Given the description of an element on the screen output the (x, y) to click on. 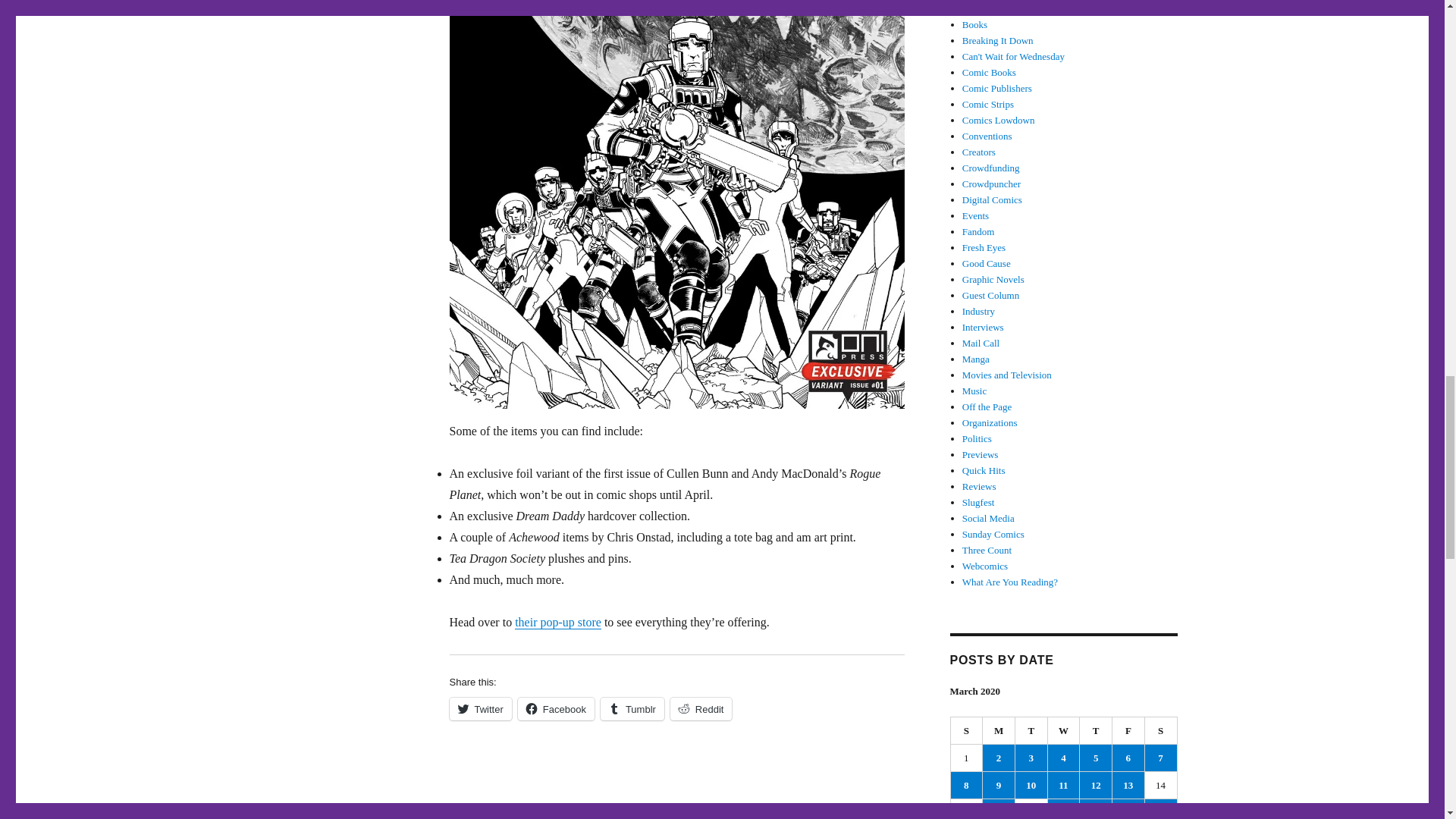
Friday (1128, 730)
Click to share on Reddit (700, 708)
Sunday (967, 730)
Click to share on Tumblr (631, 708)
Thursday (1096, 730)
Twitter (479, 708)
Click to share on Twitter (479, 708)
Wednesday (1064, 730)
Tuesday (1031, 730)
Facebook (556, 708)
